Given the description of an element on the screen output the (x, y) to click on. 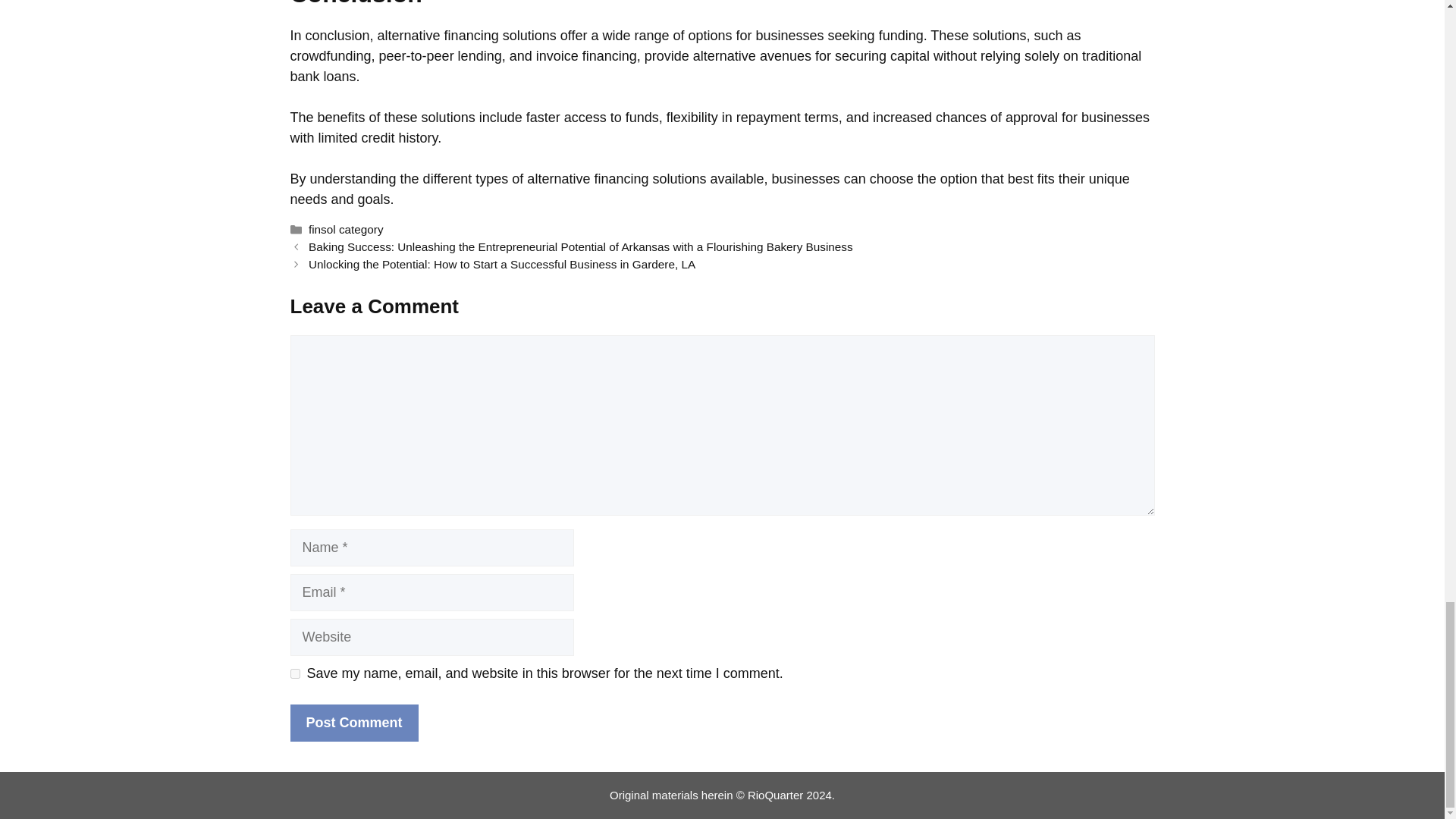
finsol category (346, 228)
yes (294, 673)
Post Comment (353, 723)
RioQuarter (775, 794)
Post Comment (353, 723)
